Given the description of an element on the screen output the (x, y) to click on. 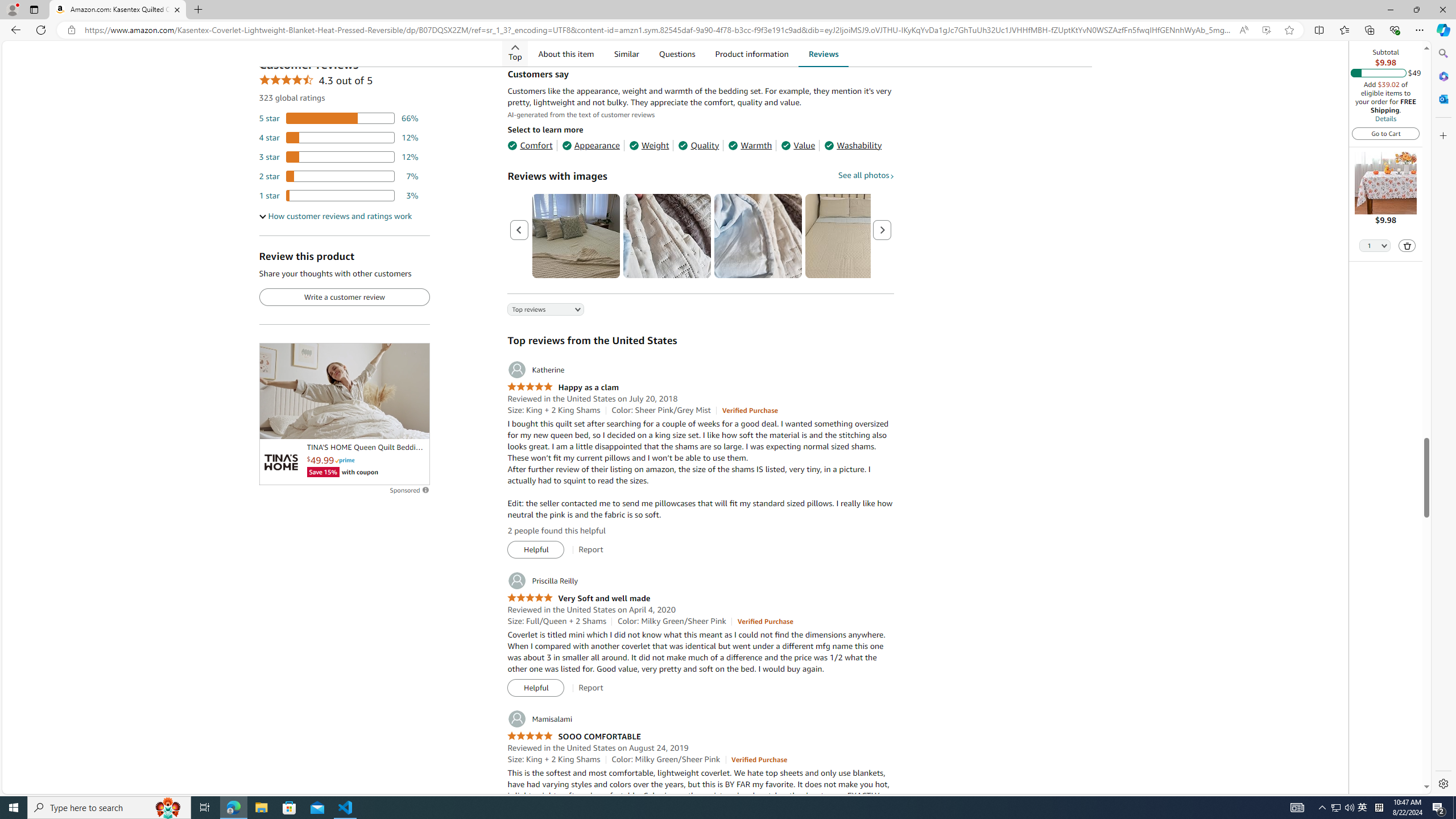
5.0 out of 5 stars SOOO COMFORTABLE (573, 736)
Sponsored ad (344, 390)
Pause (273, 425)
Customer Image (758, 235)
Logo (280, 461)
Report (590, 687)
Next page (882, 230)
Katherine (535, 370)
Prime (344, 460)
